Given the description of an element on the screen output the (x, y) to click on. 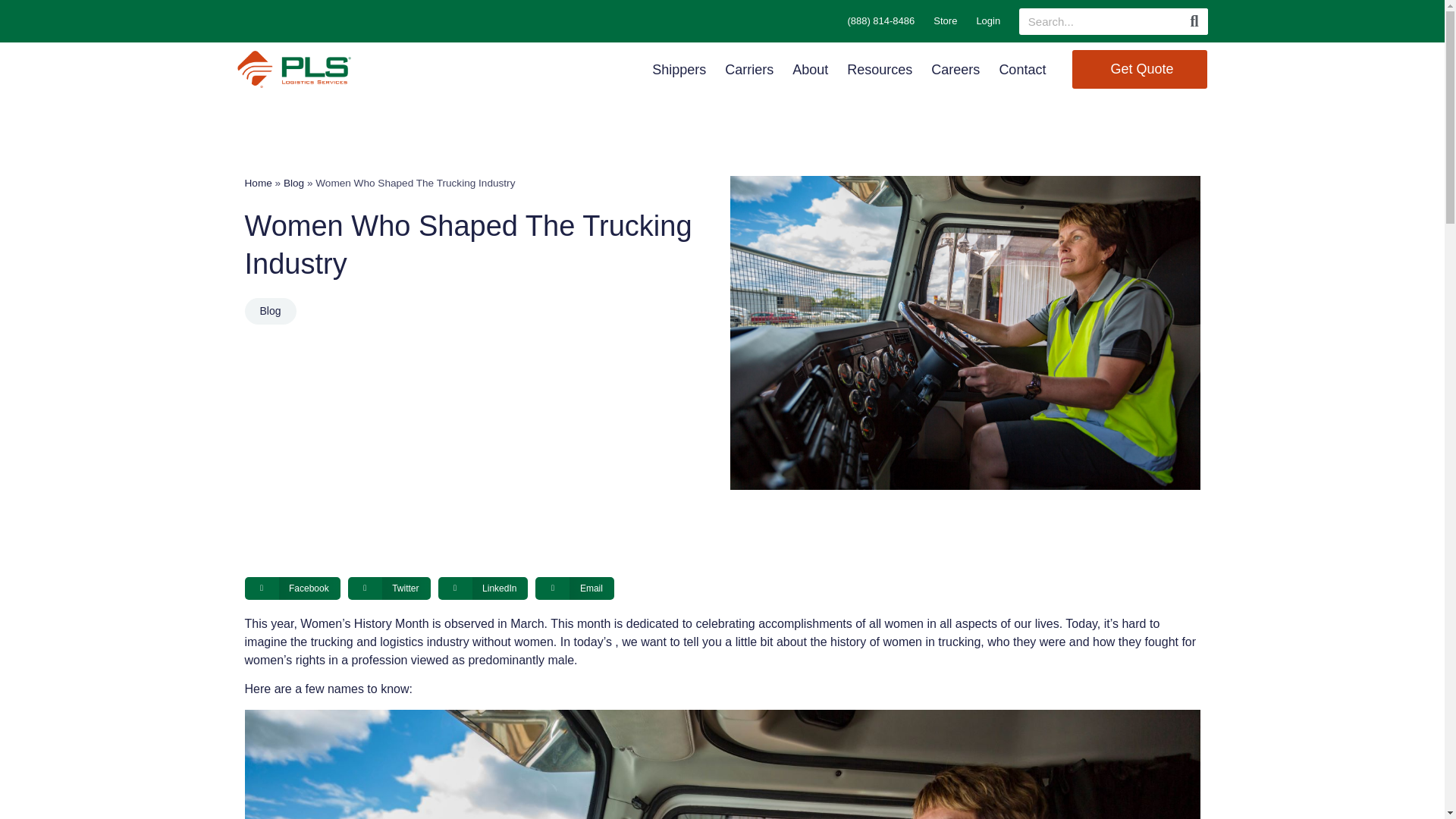
Contact (1021, 68)
Resources (879, 68)
Careers (955, 68)
Carriers (749, 68)
Shippers (679, 68)
About (810, 68)
